Given the description of an element on the screen output the (x, y) to click on. 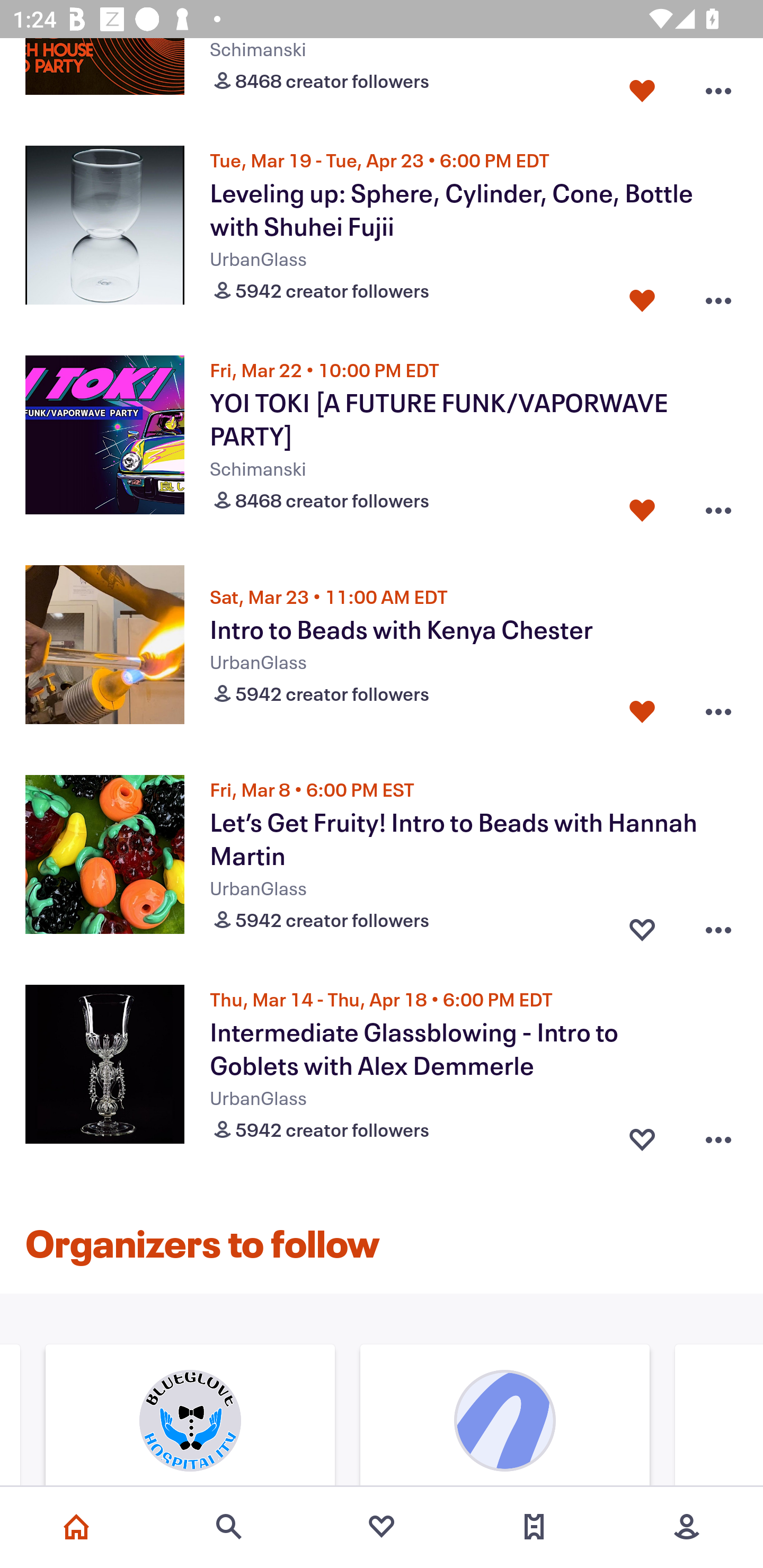
Favorite button (642, 86)
Overflow menu button (718, 86)
Favorite button (642, 296)
Overflow menu button (718, 296)
Favorite button (642, 505)
Overflow menu button (718, 505)
Favorite button (642, 711)
Overflow menu button (718, 711)
Favorite button (642, 925)
Overflow menu button (718, 925)
Favorite button (642, 1135)
Overflow menu button (718, 1135)
Organizer's image Blue Glove Hospitality (189, 1417)
Organizer's image Run The City LLC (504, 1417)
Home (76, 1526)
Search events (228, 1526)
Favorites (381, 1526)
Tickets (533, 1526)
More (686, 1526)
